Given the description of an element on the screen output the (x, y) to click on. 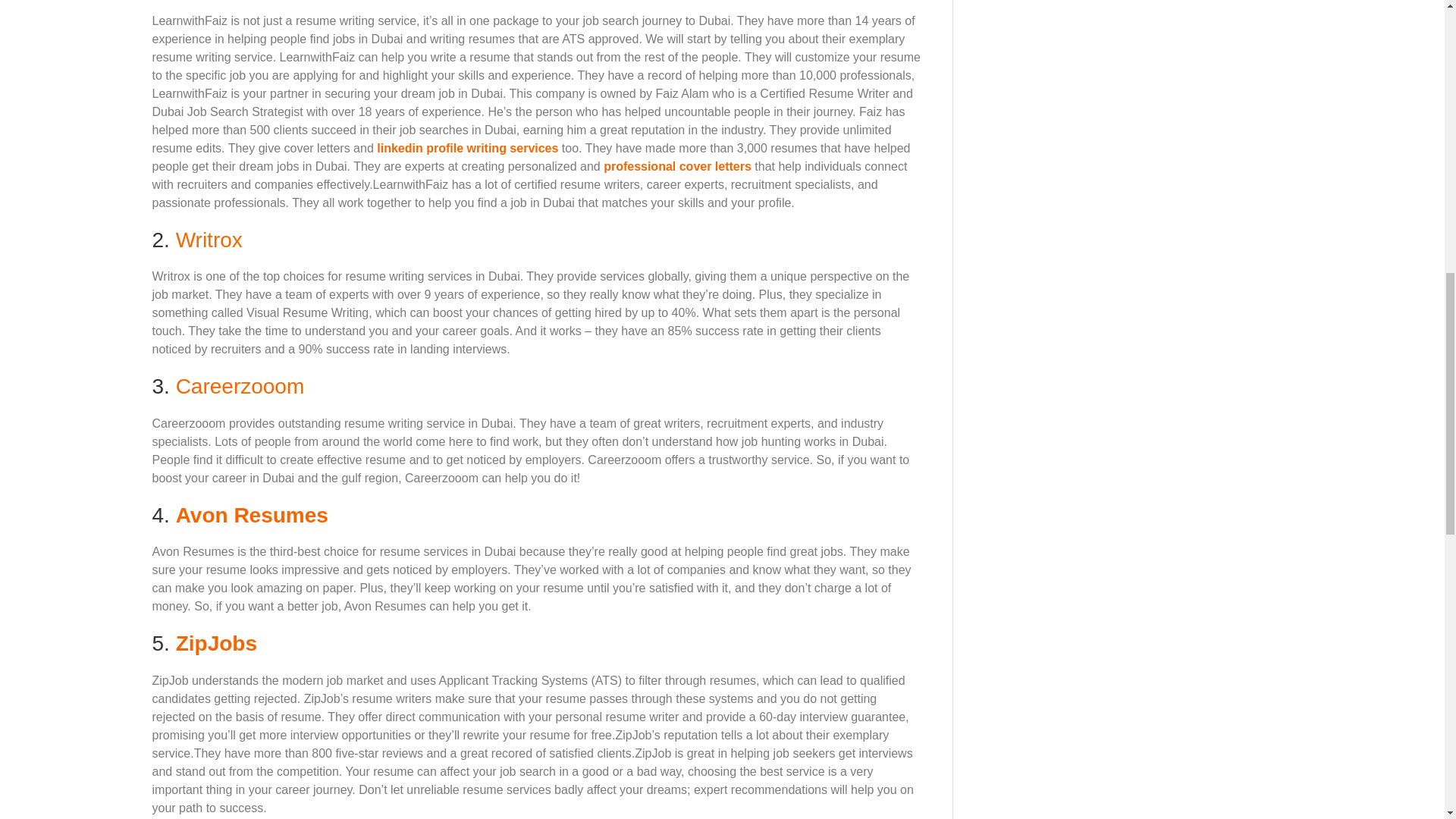
Writrox (209, 239)
Careerzooom (240, 386)
Avon Resumes (252, 515)
linkedin profile writing services (467, 147)
professional cover letters (677, 165)
ZipJobs (216, 643)
